Given the description of an element on the screen output the (x, y) to click on. 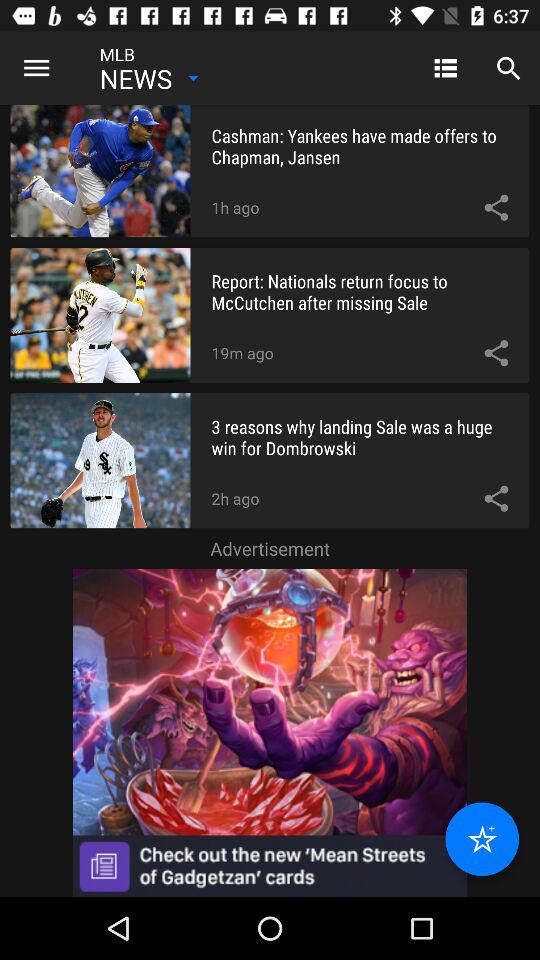
adverisement (269, 732)
